Given the description of an element on the screen output the (x, y) to click on. 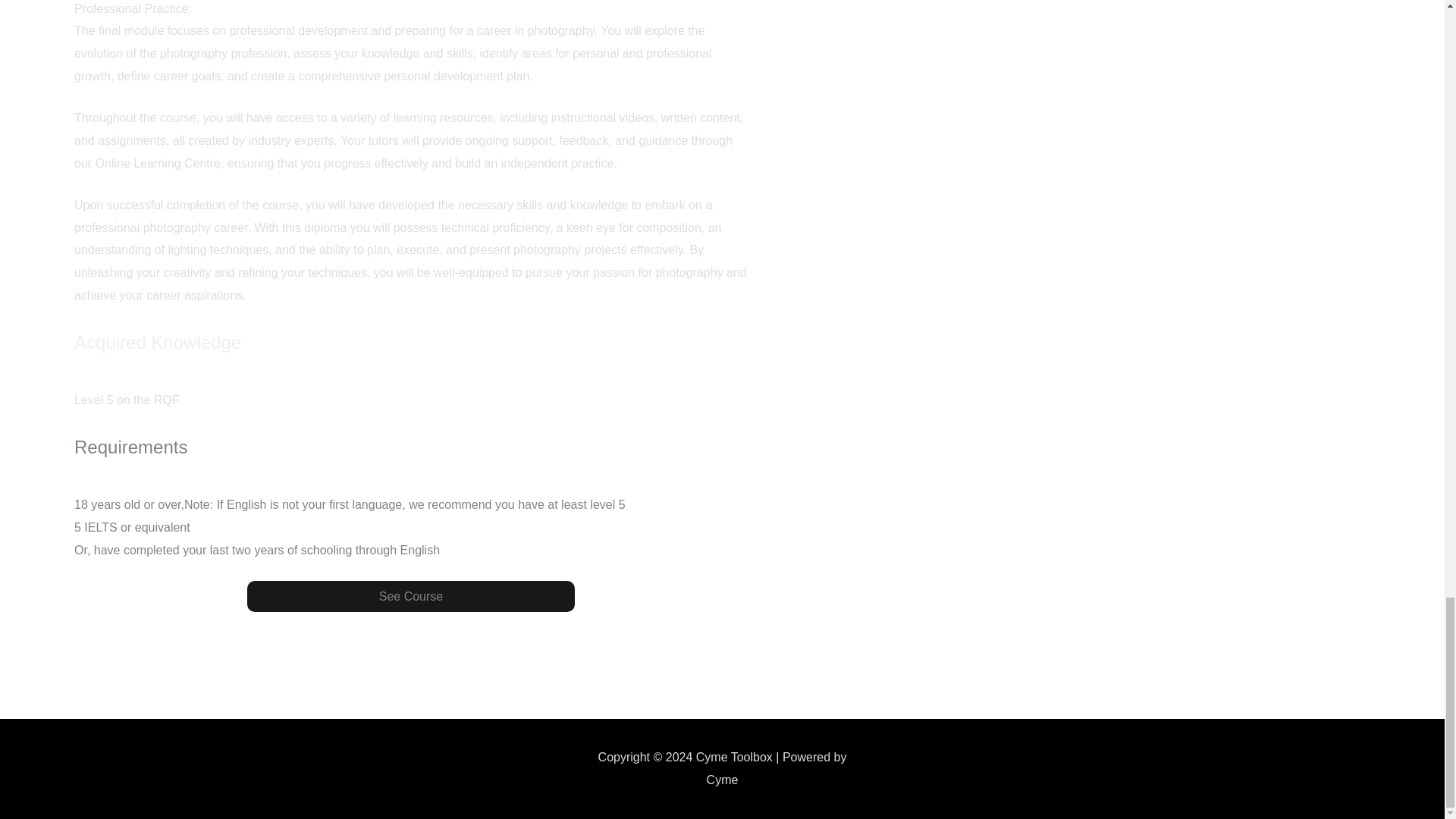
See Course (411, 595)
